Given the description of an element on the screen output the (x, y) to click on. 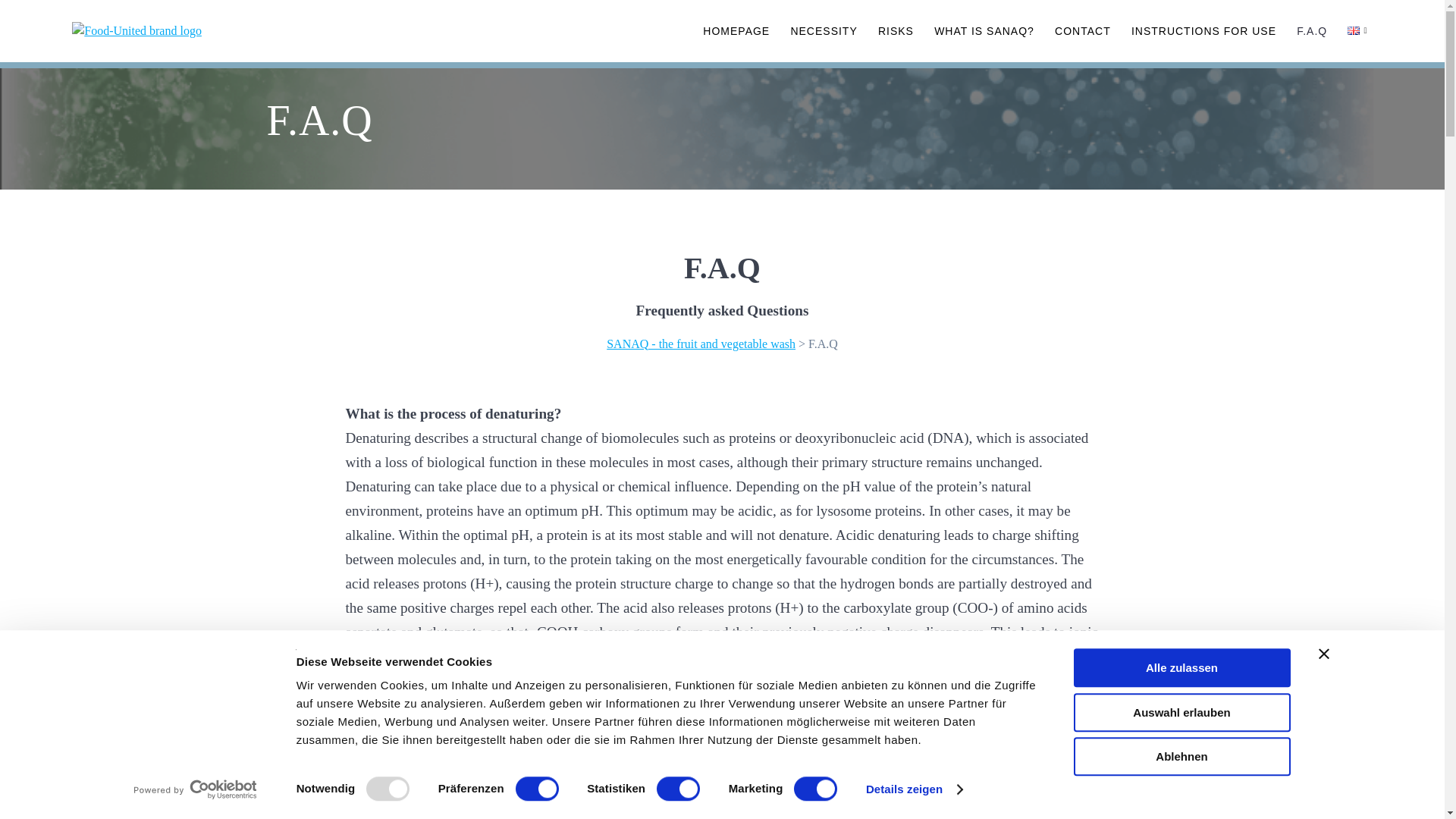
Alle zulassen (1182, 667)
Go to SANAQ - the fruit and vegetable wash. (700, 343)
Risks (895, 30)
Auswahl erlauben (1182, 712)
F.A.Q (1311, 30)
Ablehnen (1182, 756)
Details zeigen (914, 789)
NECESSITY (823, 30)
CONTACT (1082, 30)
SANAQ - the fruit and vegetable wash (700, 343)
